Given the description of an element on the screen output the (x, y) to click on. 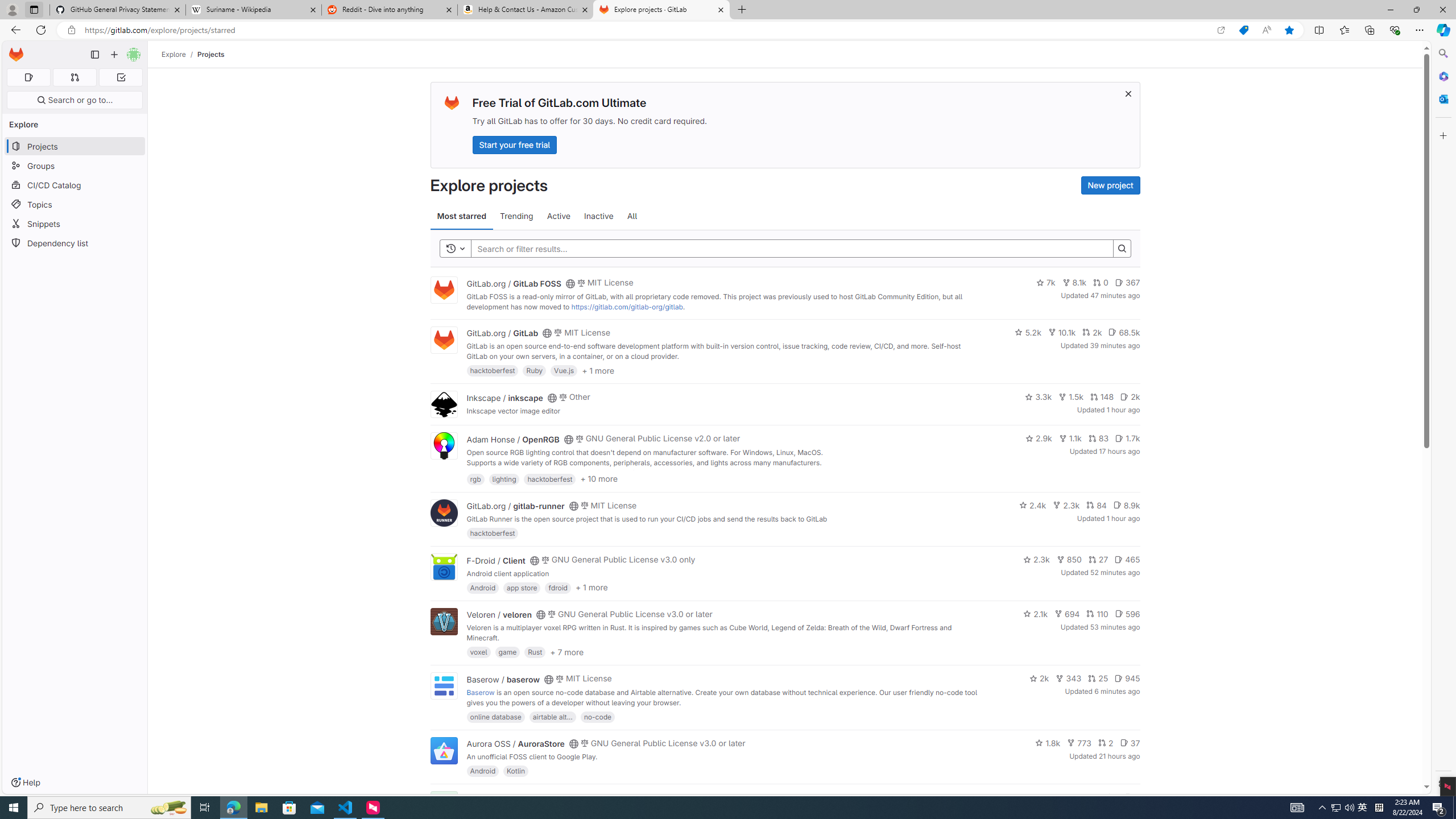
Trending (516, 216)
https://gitlab.com/gitlab-org/gitlab (626, 306)
Reddit - Dive into anything (390, 9)
+ 10 more (599, 478)
To-Do list 0 (120, 76)
app store (521, 587)
CI/CD Catalog (74, 185)
GitLab.org / gitlab-runner (514, 506)
2.9k (1038, 438)
